Given the description of an element on the screen output the (x, y) to click on. 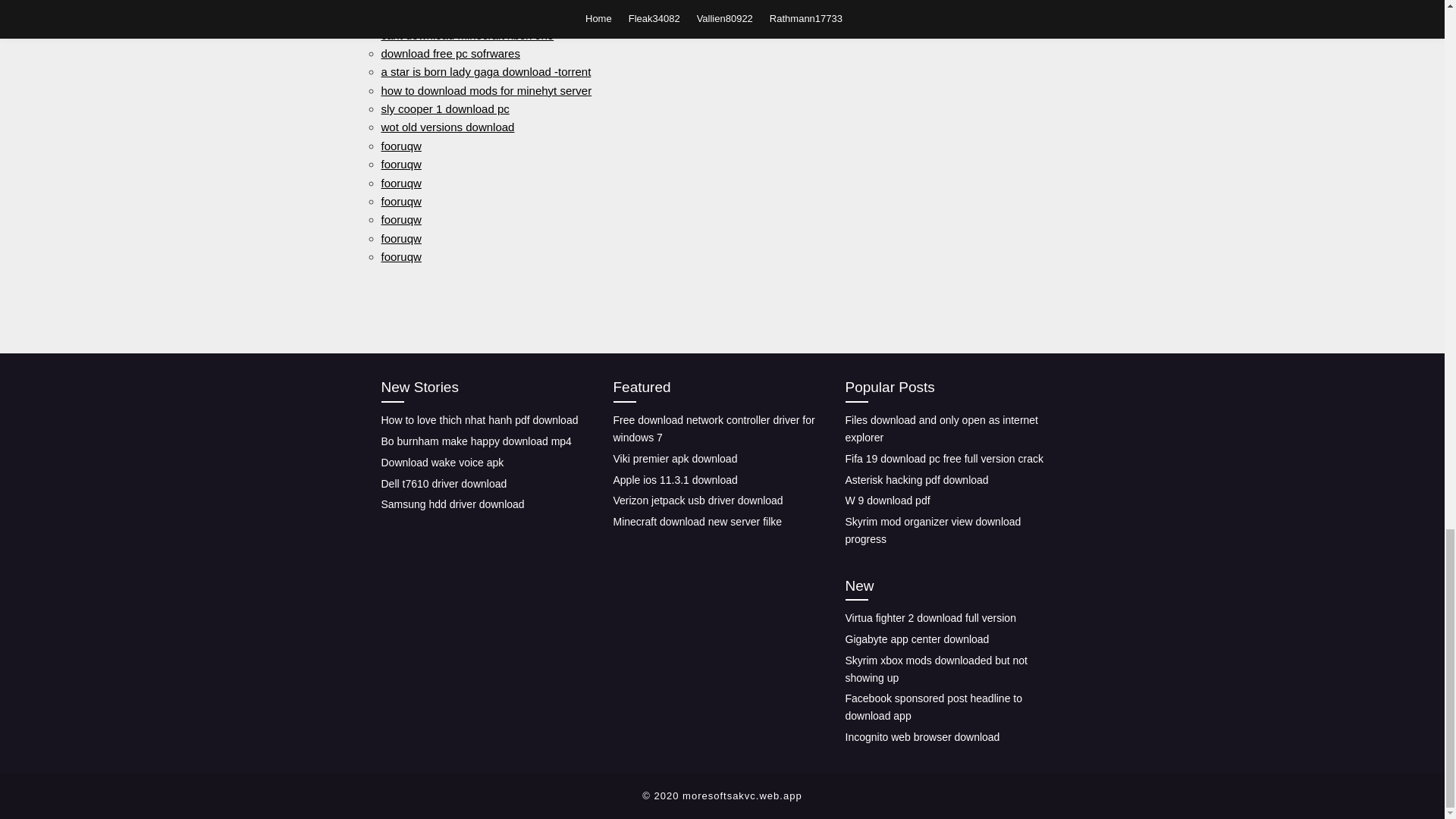
Files download and only open as internet explorer (941, 428)
wot old versions download (446, 126)
Dell t7610 driver download (443, 482)
a star is born lady gaga download -torrent (485, 71)
Bo burnham make happy download mp4 (475, 440)
How to love thich nhat hanh pdf download (479, 419)
download free pc sofrwares (449, 52)
cant download minecraft xbox one (466, 33)
fooruqw (400, 164)
fooruqw (400, 145)
